Given the description of an element on the screen output the (x, y) to click on. 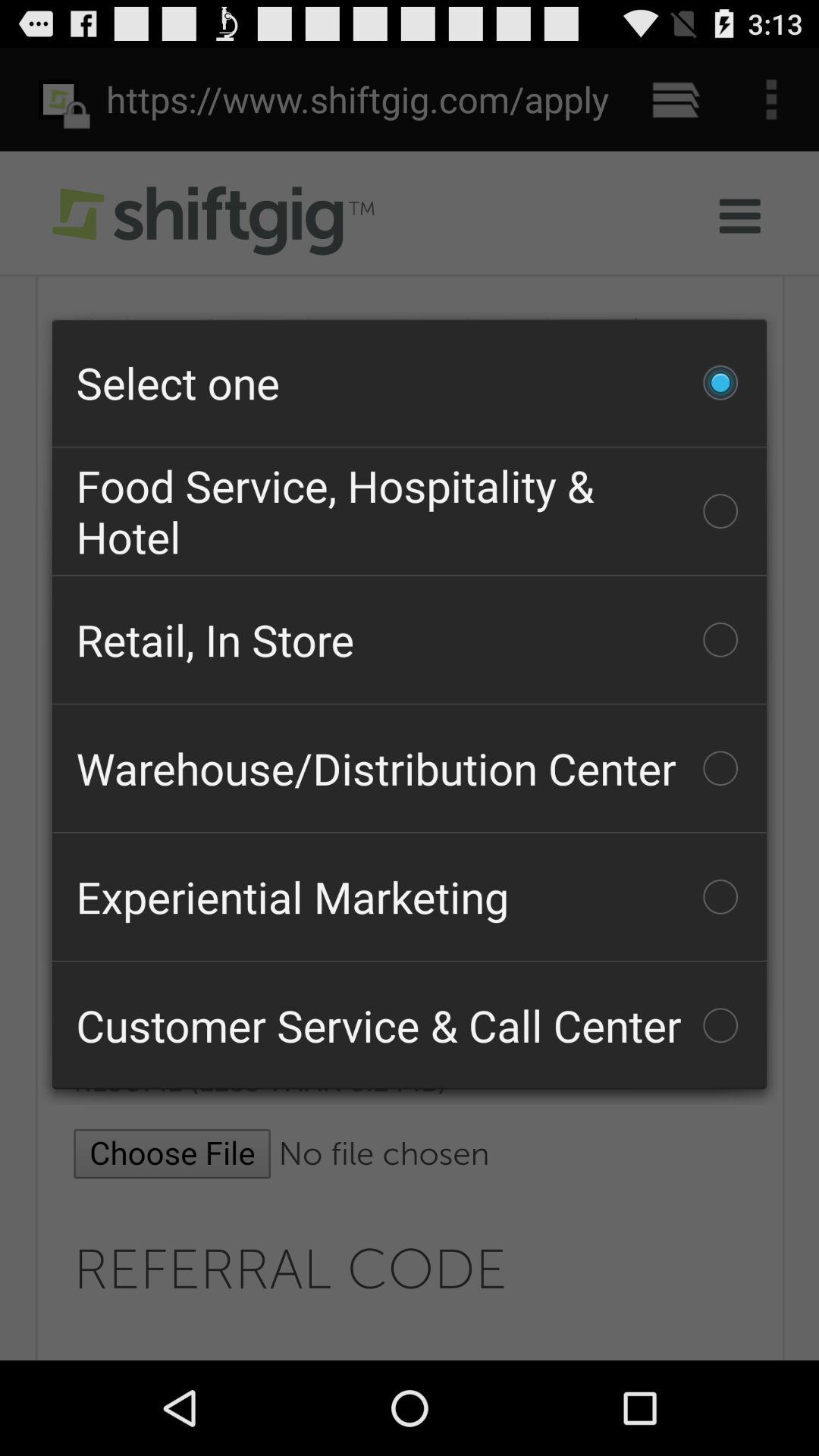
flip to experiential marketing item (409, 896)
